Given the description of an element on the screen output the (x, y) to click on. 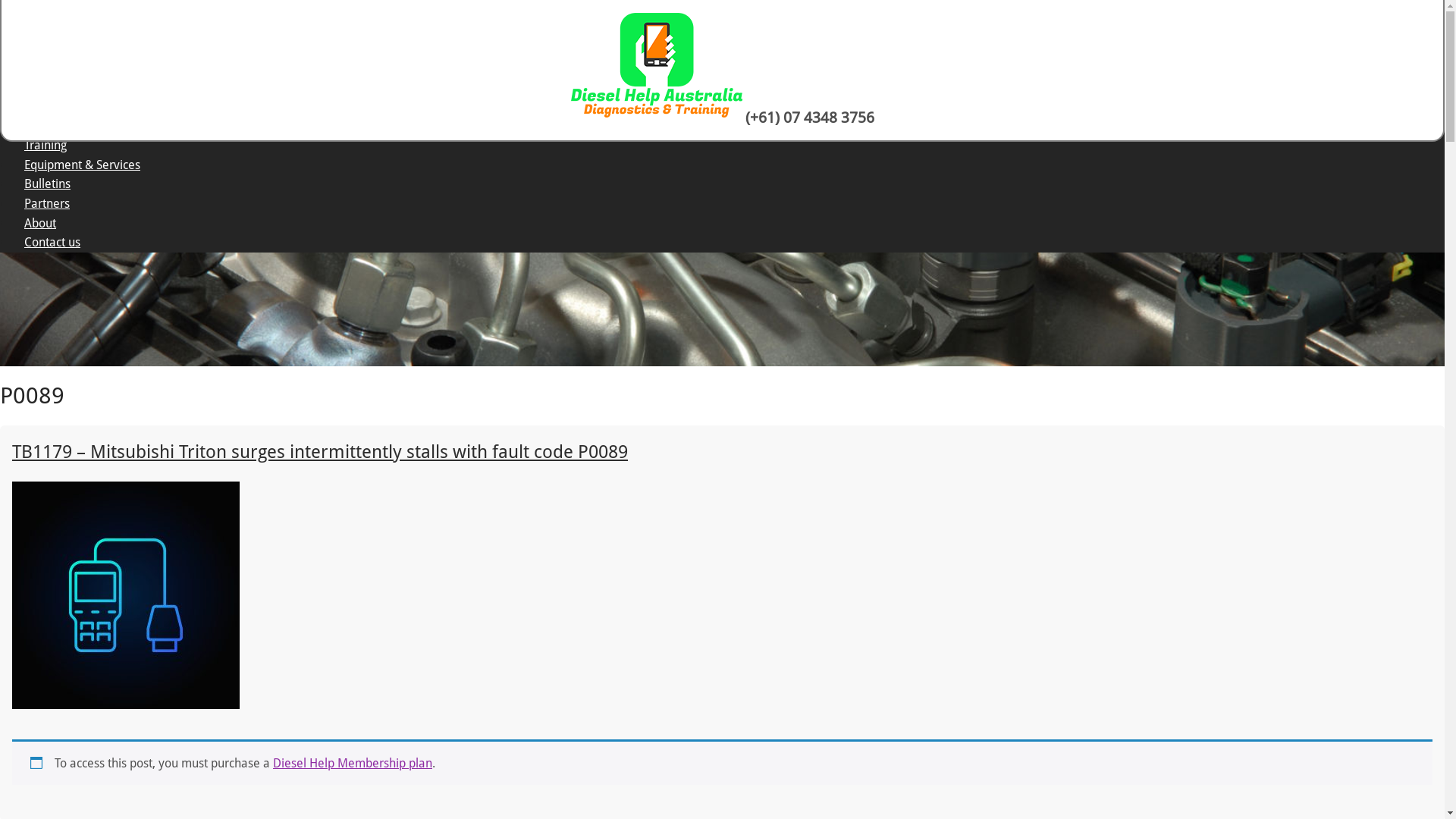
Login Element type: text (363, 92)
(+61) 07 4348 3756 Element type: text (808, 117)
Diesel Help Membership plan Element type: text (352, 763)
Join Diesel Help Element type: text (473, 24)
Equipment & Services Element type: text (82, 164)
Join Diesel Help Element type: text (475, 92)
Please enter username Element type: hover (75, 23)
Partners Element type: text (46, 203)
Forgot
Password? Element type: text (565, 24)
Please enter password Element type: hover (239, 23)
Please enter password Element type: hover (239, 91)
Login Element type: text (363, 23)
Contact us Element type: text (52, 242)
Please enter username Element type: hover (75, 91)
Forgot
Password? Element type: text (567, 92)
Toggle navigation Element type: text (9, 61)
Join Diesel Help Element type: text (66, 126)
About Element type: text (40, 223)
Training Element type: text (45, 145)
Bulletins Element type: text (47, 183)
